Given the description of an element on the screen output the (x, y) to click on. 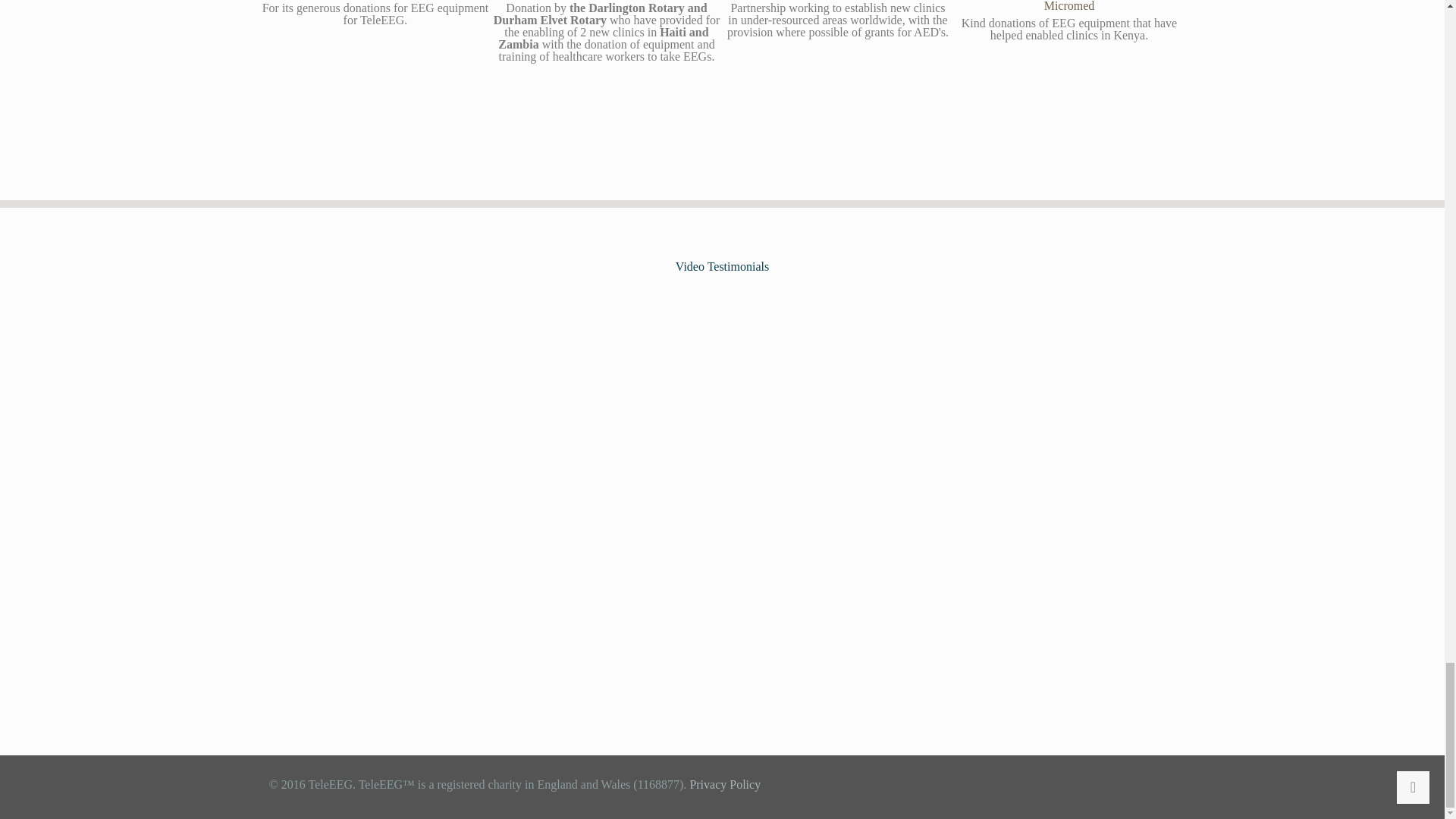
Privacy Policy (724, 784)
